Given the description of an element on the screen output the (x, y) to click on. 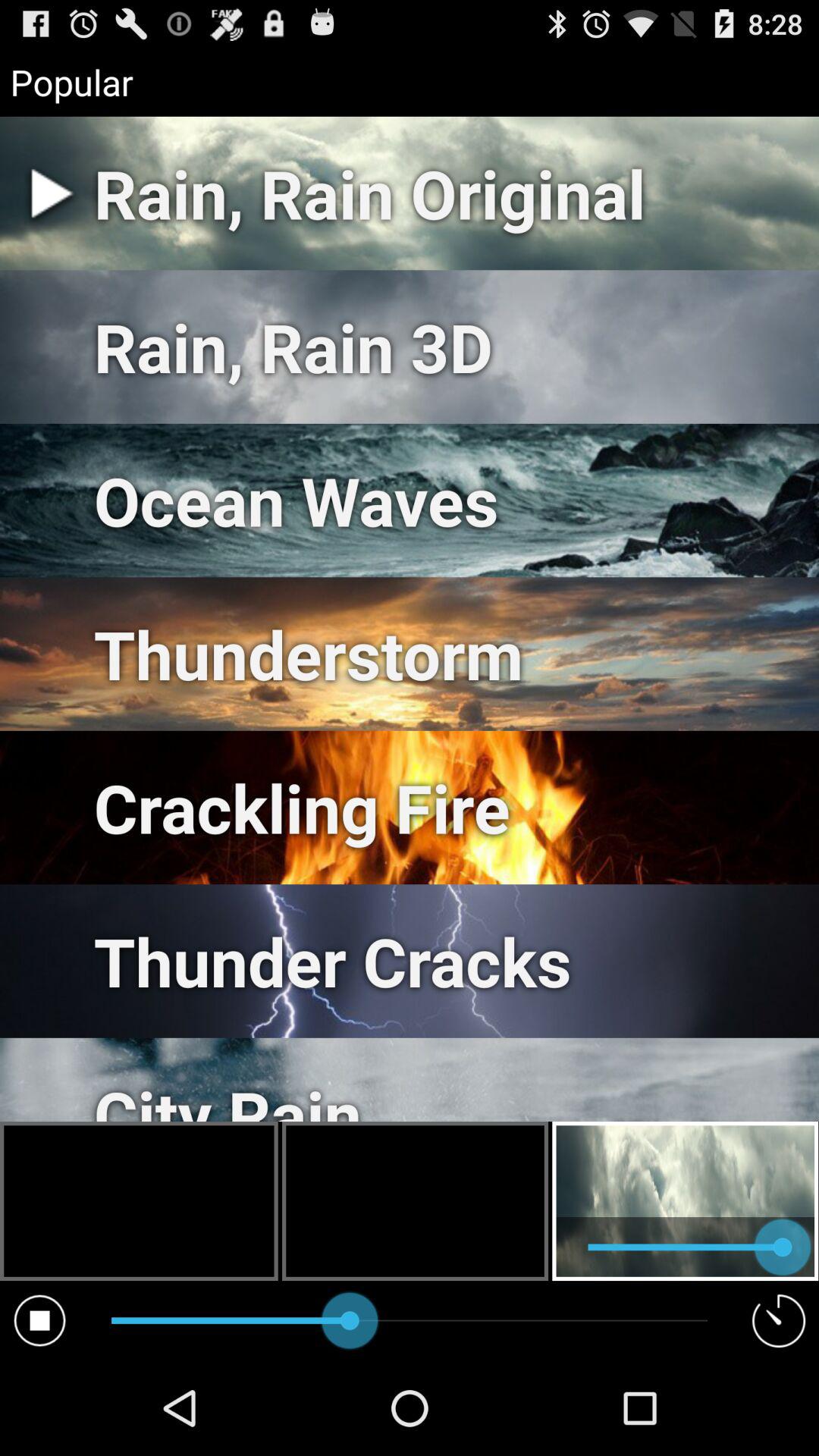
select the middle box in bottom of page (414, 1200)
select the symbol which is at the bottom right corner of the page (779, 1320)
